Given the description of an element on the screen output the (x, y) to click on. 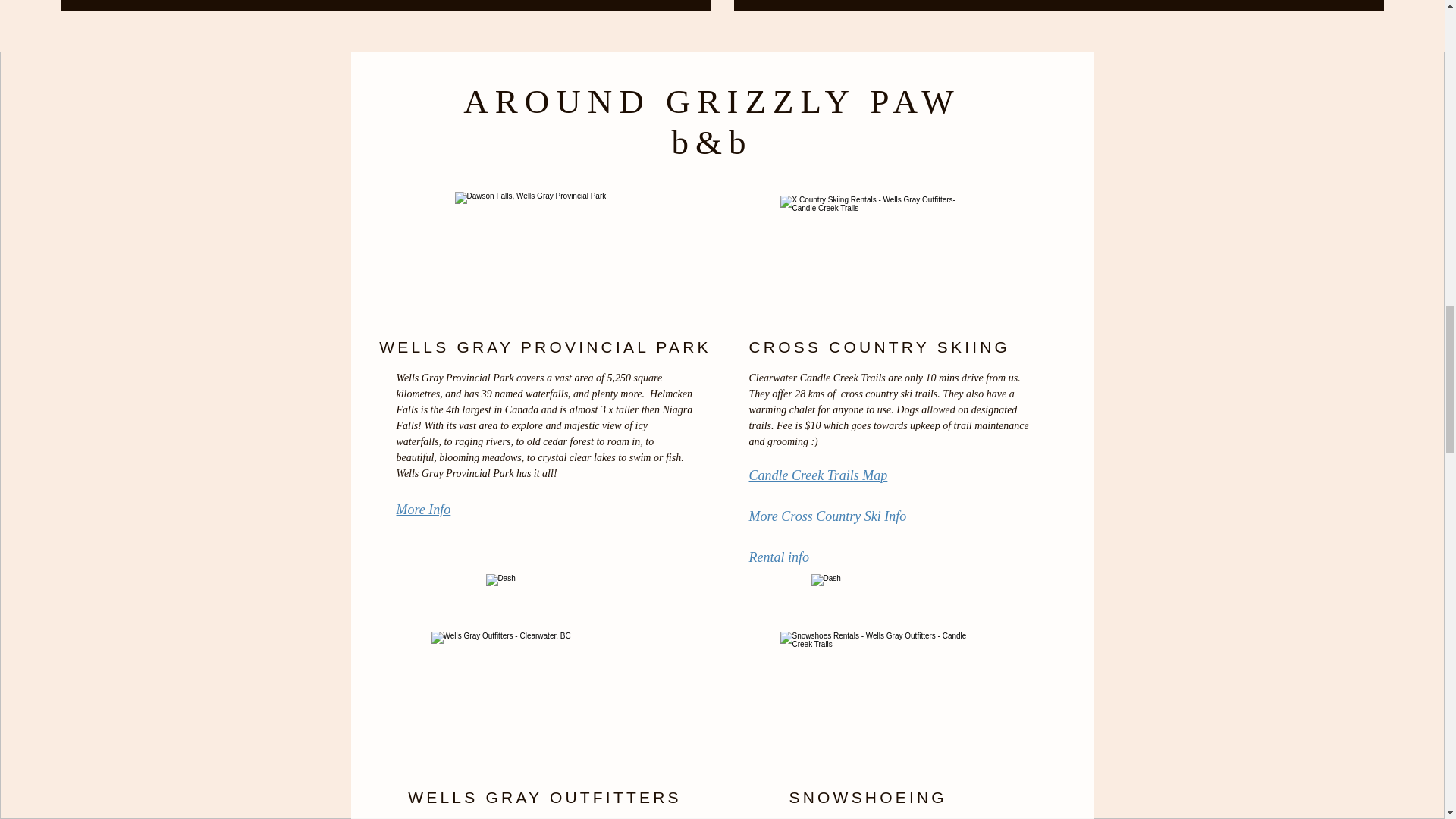
More Info (422, 509)
More Cross Country Ski Info (828, 516)
Rental info (779, 557)
Candle Creek Trails Map (818, 475)
